Given the description of an element on the screen output the (x, y) to click on. 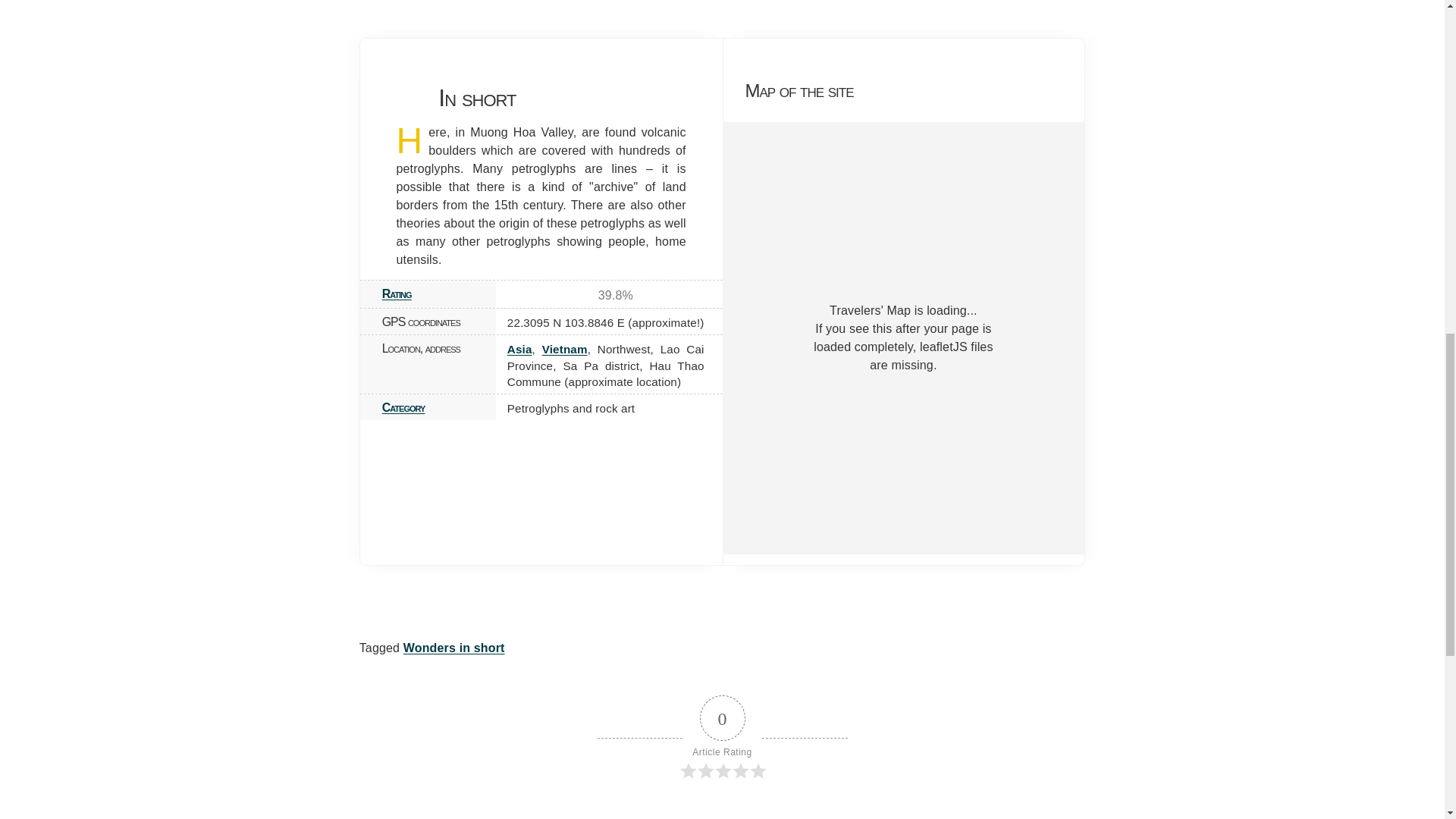
Category (403, 407)
Asia (519, 349)
Wonders in short (454, 647)
Vietnam (564, 349)
Rating (396, 293)
